Given the description of an element on the screen output the (x, y) to click on. 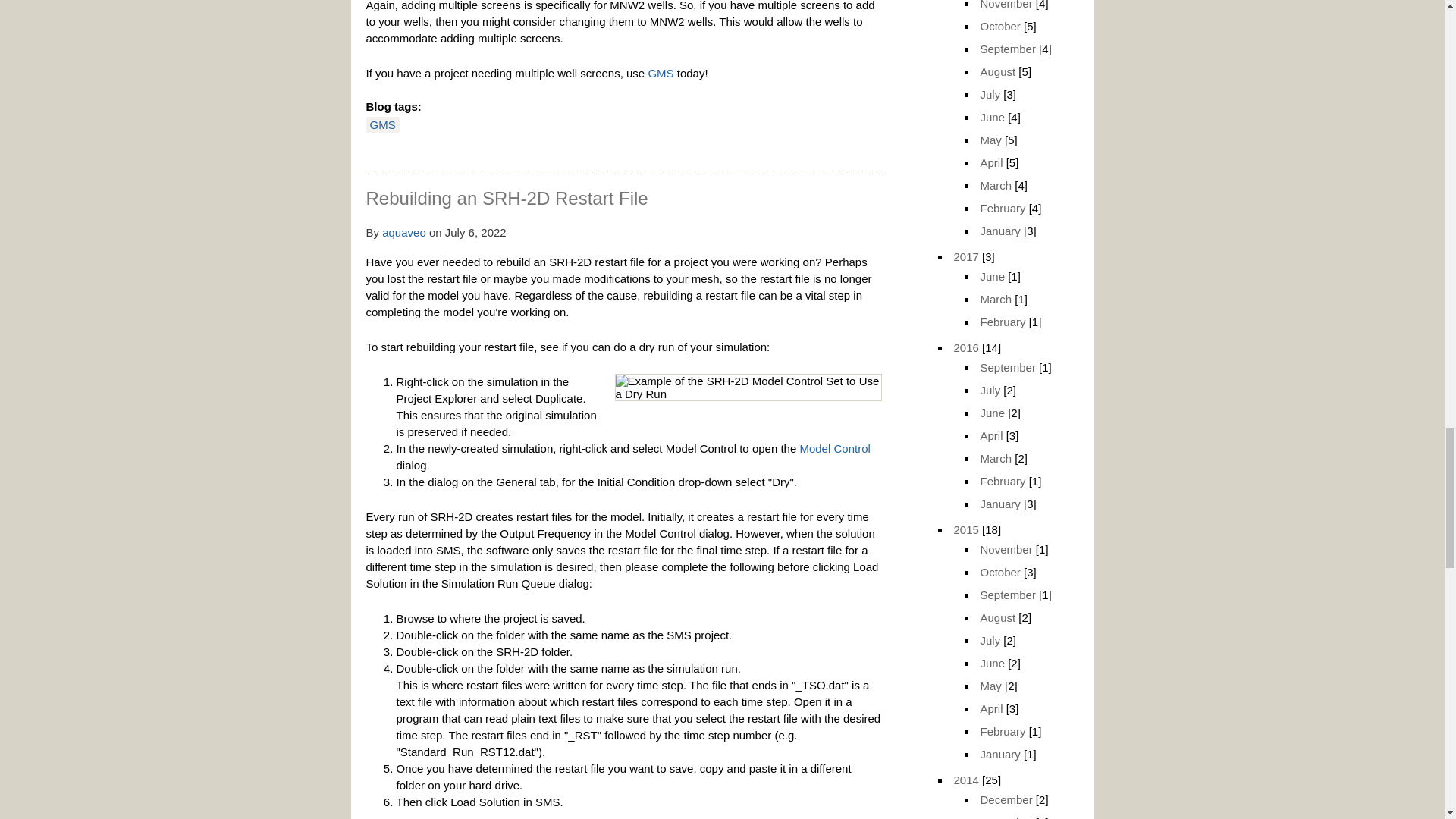
GMS (659, 72)
aquaveo (403, 232)
Model Control (834, 448)
Rebuilding an SRH-2D Restart File (506, 198)
View user profile. (403, 232)
GMS (382, 124)
